Given the description of an element on the screen output the (x, y) to click on. 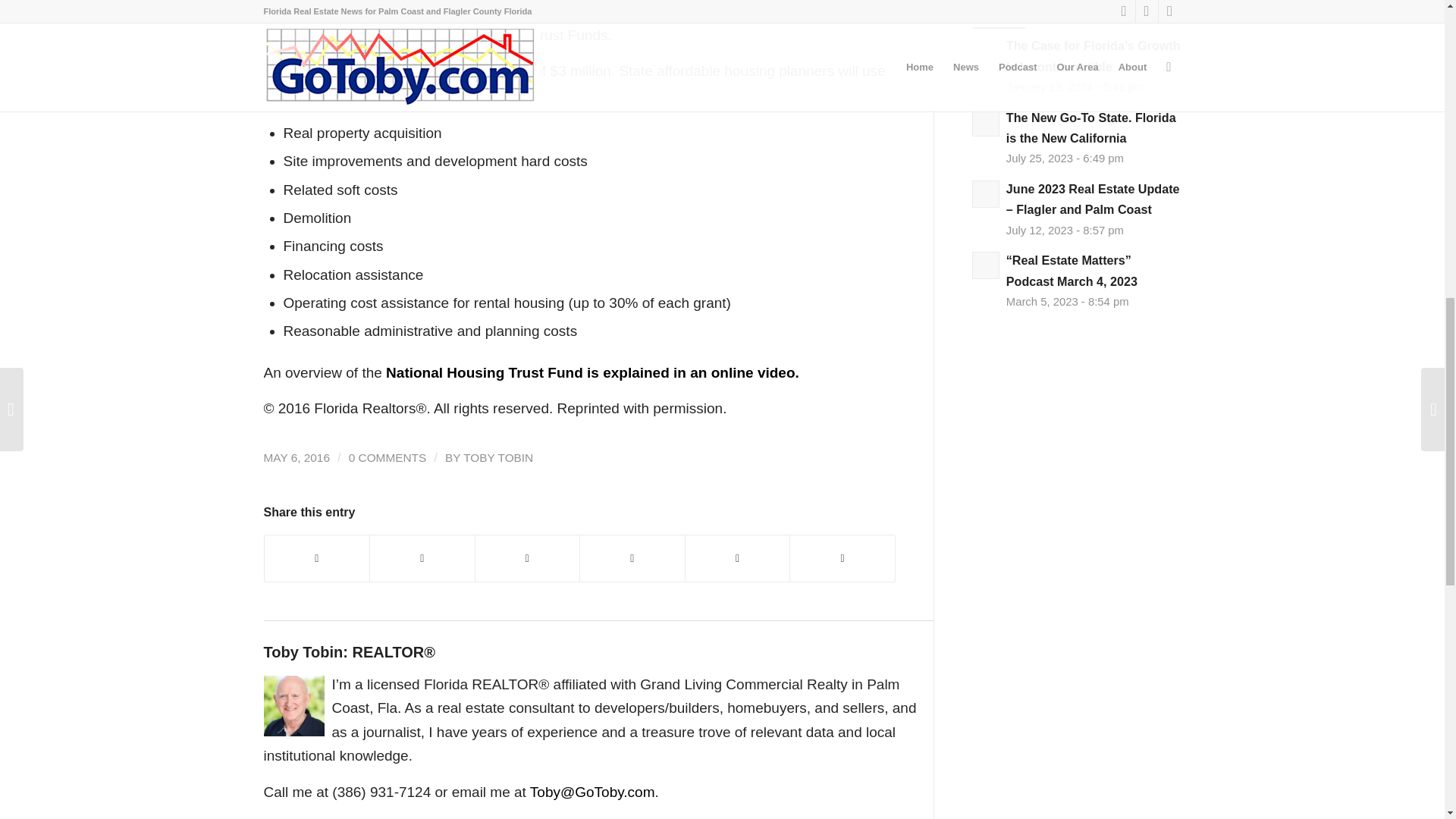
TOBY TOBIN (497, 457)
0 COMMENTS (387, 457)
National Housing Trust Fund is explained in an online video. (592, 372)
Posts by Toby Tobin (497, 457)
